Given the description of an element on the screen output the (x, y) to click on. 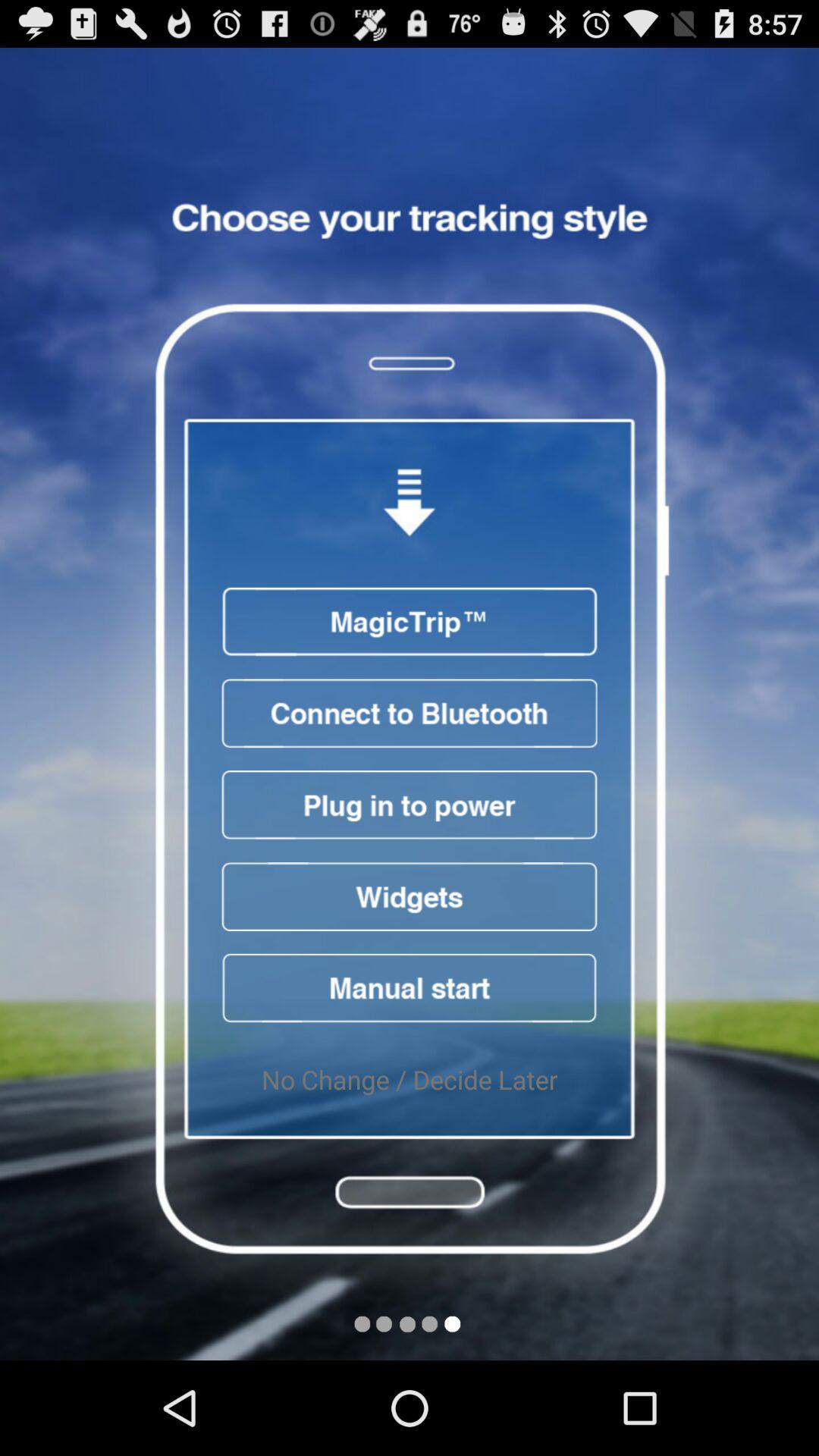
access widgets (409, 896)
